Given the description of an element on the screen output the (x, y) to click on. 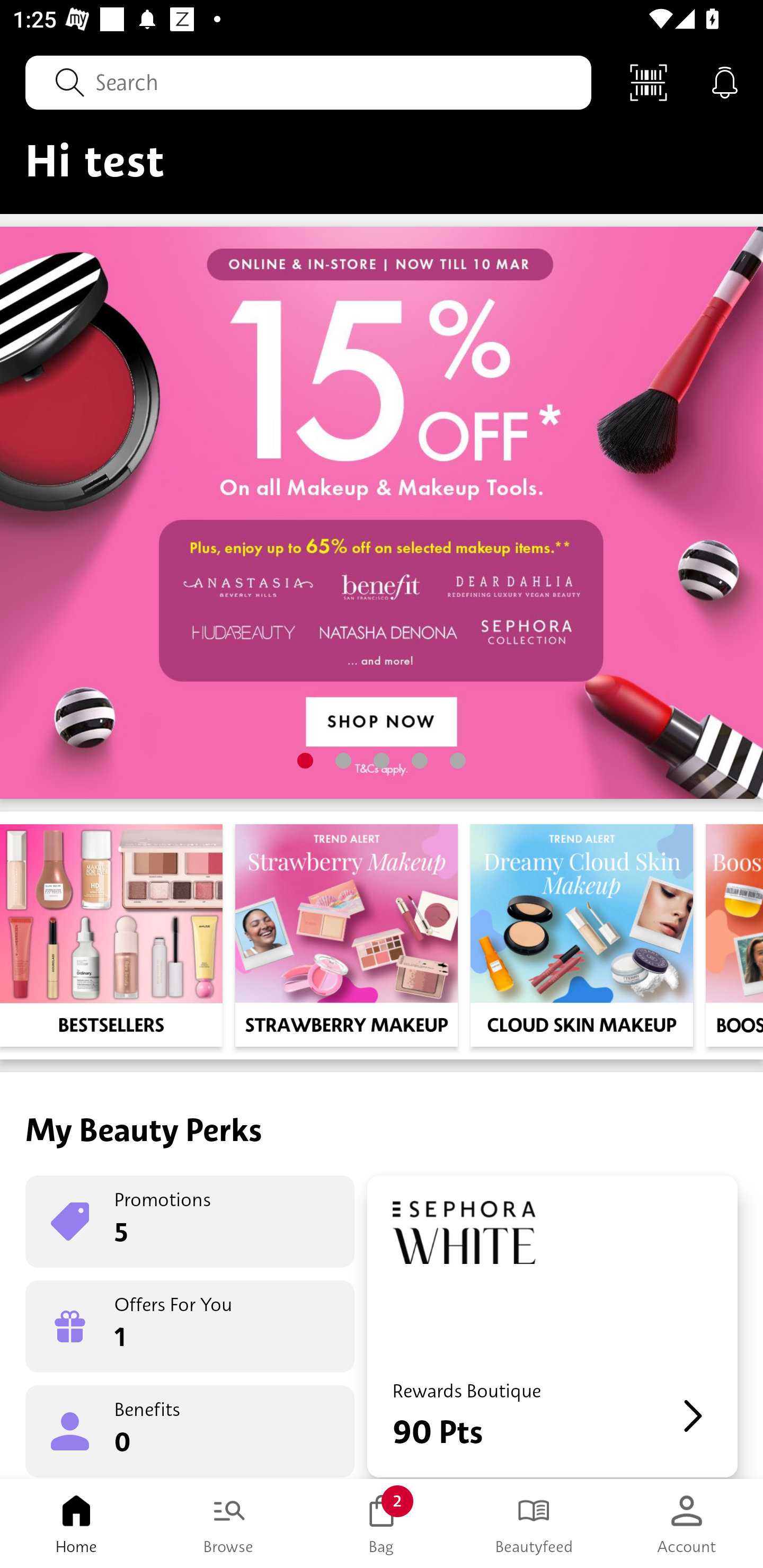
Scan Code (648, 81)
Notifications (724, 81)
Search (308, 81)
Promotions 5 (189, 1221)
Rewards Boutique 90 Pts (552, 1326)
Offers For You 1 (189, 1326)
Benefits 0 (189, 1430)
Browse (228, 1523)
Bag 2 Bag (381, 1523)
Beautyfeed (533, 1523)
Account (686, 1523)
